Given the description of an element on the screen output the (x, y) to click on. 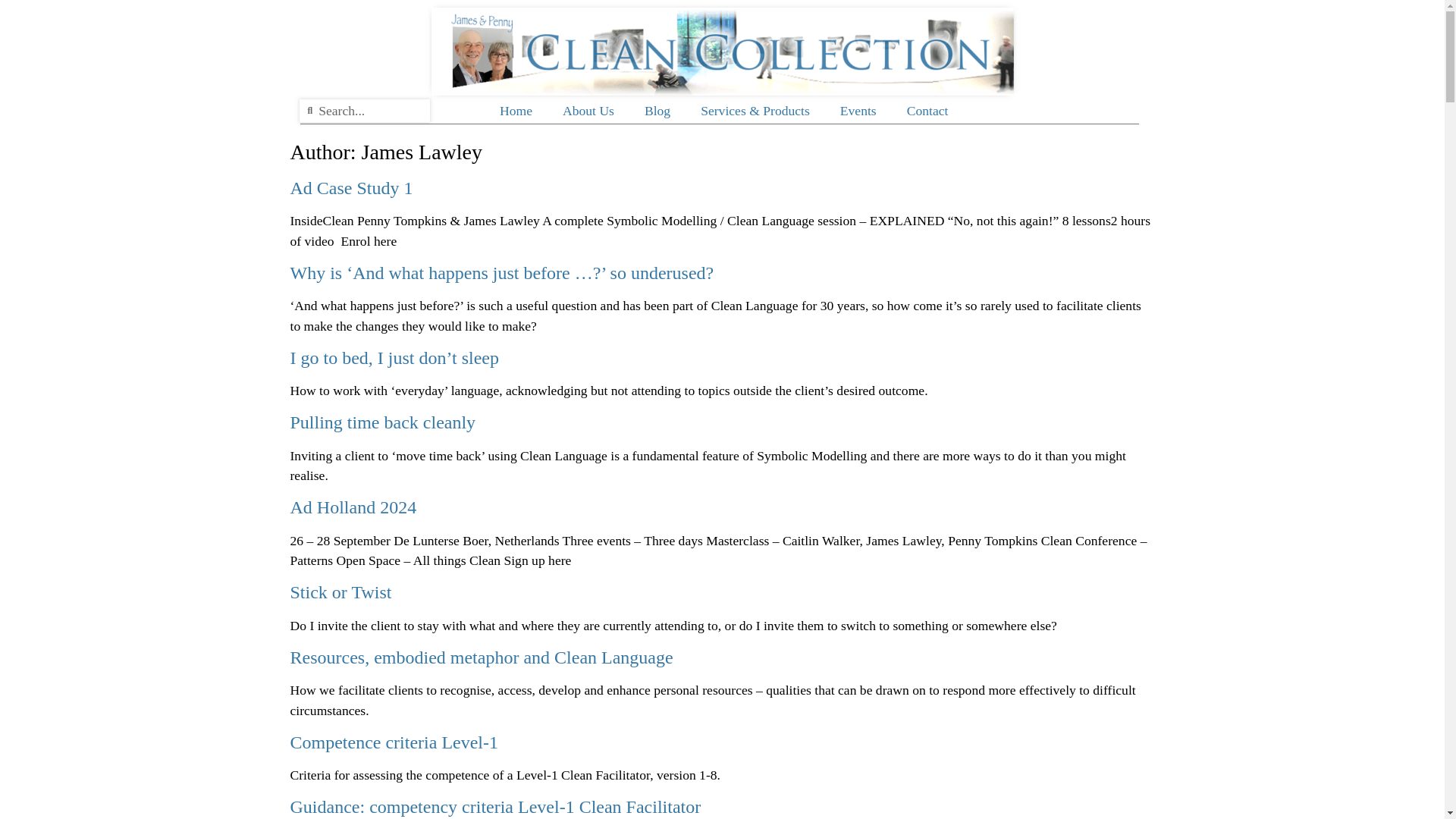
Guidance: competency criteria Level-1 Clean Facilitator (494, 806)
Ad Holland 2024 (352, 506)
Events (858, 110)
Contact (927, 110)
Stick or Twist (340, 591)
Blog (656, 110)
Pulling time back cleanly (382, 422)
Resources, embodied metaphor and Clean Language (480, 657)
Ad Case Study 1 (350, 188)
Competence criteria Level-1 (393, 742)
Home (515, 110)
About Us (587, 110)
